Given the description of an element on the screen output the (x, y) to click on. 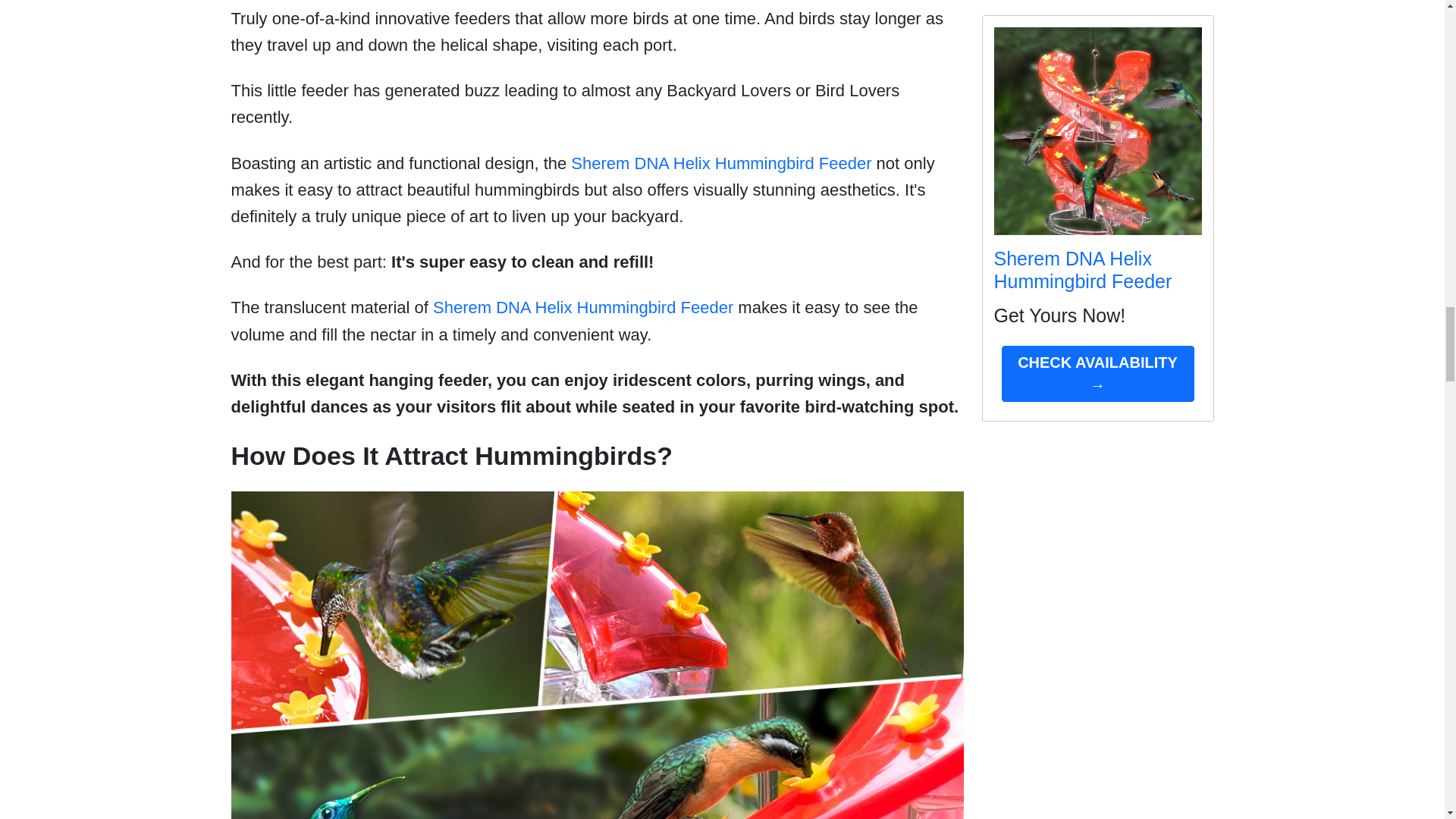
Sherem DNA Helix Hummingbird Feeder (582, 307)
Sherem DNA Helix Hummingbird Feeder (720, 162)
